Given the description of an element on the screen output the (x, y) to click on. 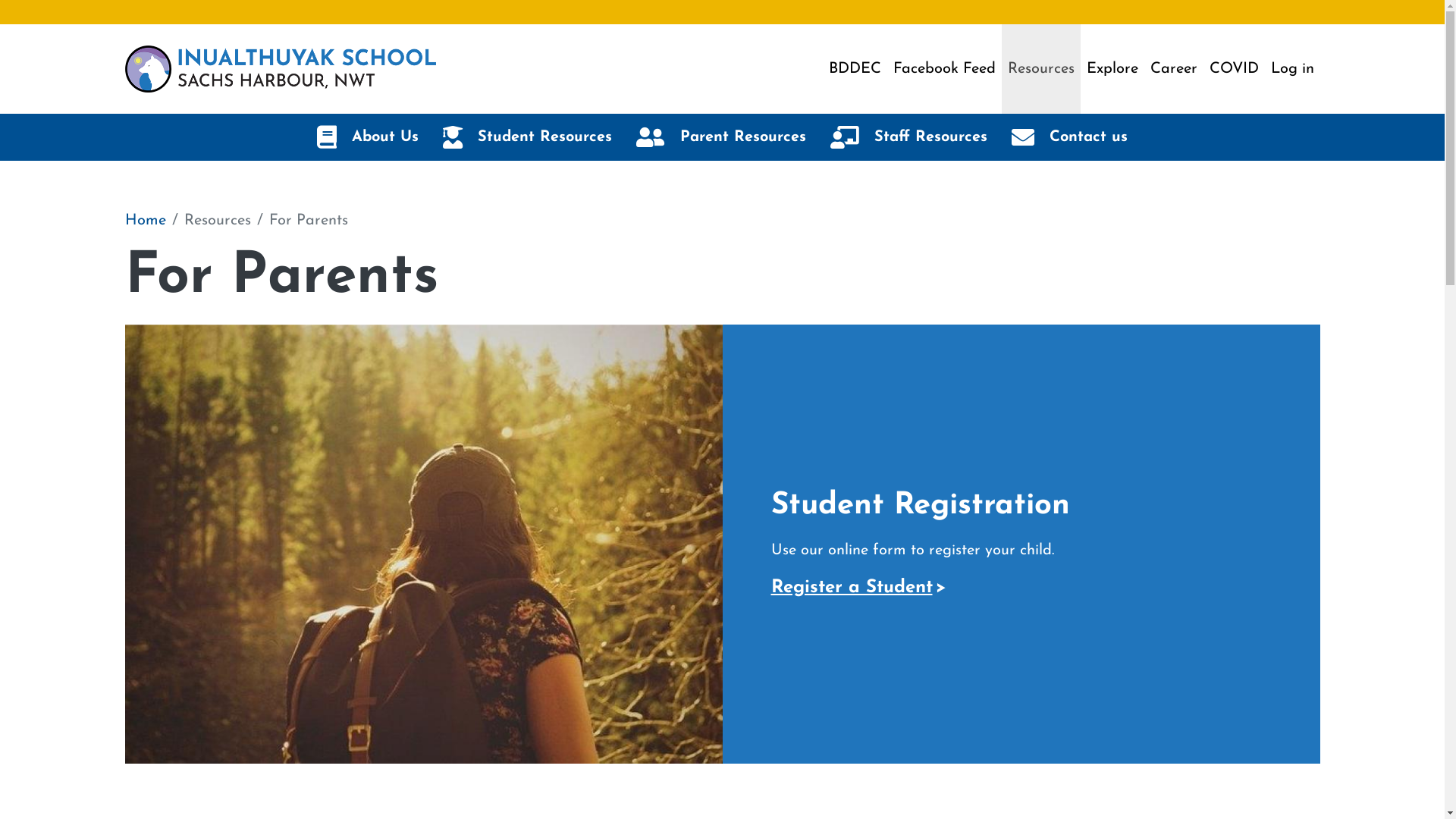
Home Element type: hover (279, 68)
Staff Resources Element type: text (908, 136)
Contact us Element type: text (1069, 136)
Home Element type: text (144, 220)
Student Resources Element type: text (527, 136)
Register a Student Element type: text (857, 587)
Facebook Feed Element type: text (944, 68)
Parent Resources Element type: text (721, 136)
About Us Element type: text (367, 136)
BDDEC Element type: text (854, 68)
Log in Element type: text (1292, 68)
COVID Element type: text (1233, 68)
